Given the description of an element on the screen output the (x, y) to click on. 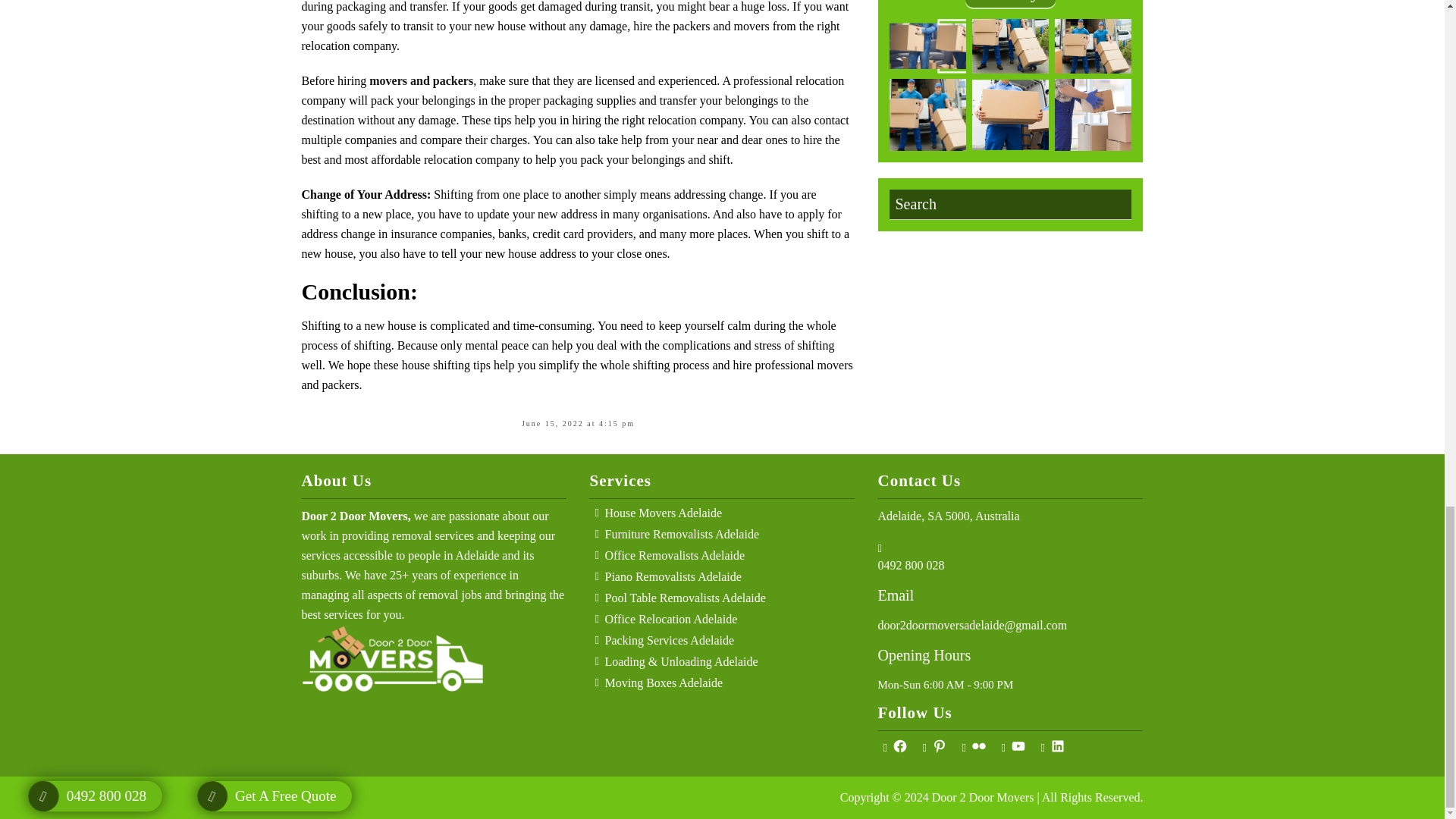
Search (1009, 204)
